Given the description of an element on the screen output the (x, y) to click on. 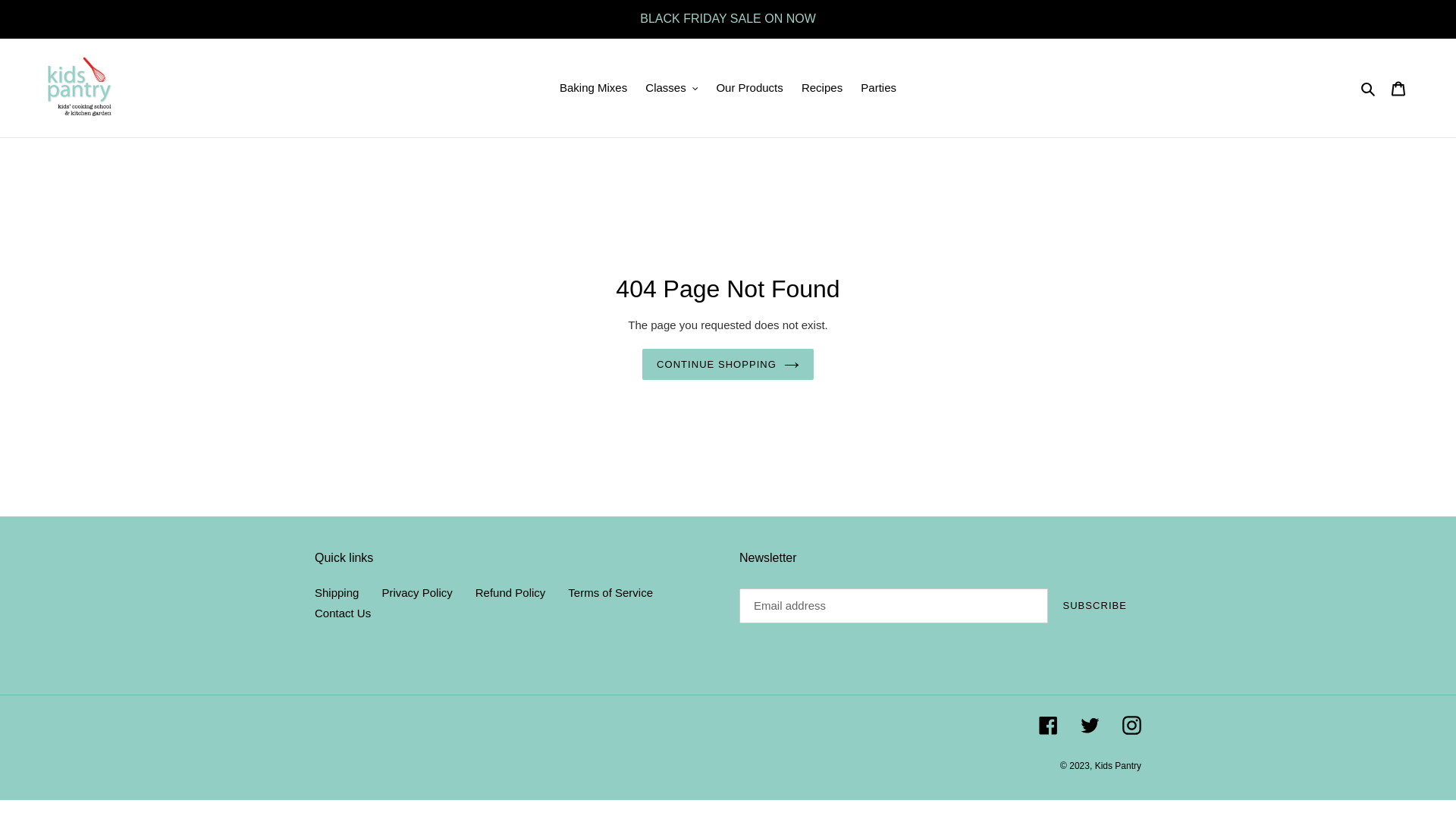
Recipes Element type: text (821, 88)
Shipping Element type: text (336, 592)
BLACK FRIDAY SALE ON NOW Element type: text (727, 18)
Search Element type: text (1368, 87)
Contact Us Element type: text (342, 612)
Our Products Element type: text (749, 88)
Kids Pantry Element type: text (1118, 765)
Twitter Element type: text (1089, 724)
Cart Element type: text (1398, 88)
Facebook Element type: text (1047, 724)
SUBSCRIBE Element type: text (1094, 605)
Baking Mixes Element type: text (593, 88)
Terms of Service Element type: text (609, 592)
Instagram Element type: text (1131, 724)
Privacy Policy Element type: text (416, 592)
CONTINUE SHOPPING Element type: text (727, 364)
Refund Policy Element type: text (510, 592)
Parties Element type: text (878, 88)
Classes Element type: text (671, 88)
